Given the description of an element on the screen output the (x, y) to click on. 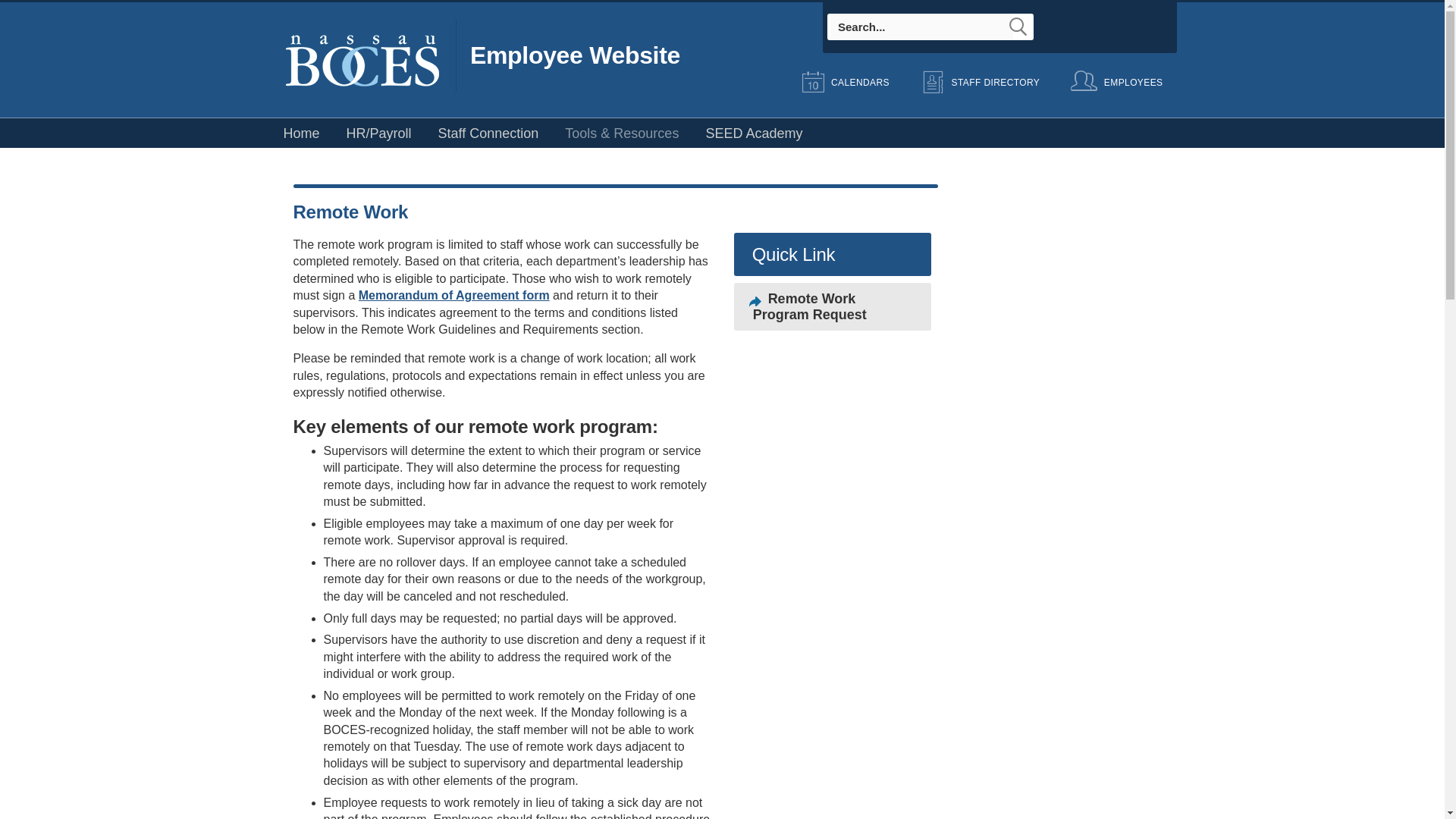
Search... (921, 26)
CALENDARS (843, 81)
Search... (921, 26)
Home (300, 132)
STAFF DIRECTORY (978, 81)
EMPLOYEES (1117, 81)
